Given the description of an element on the screen output the (x, y) to click on. 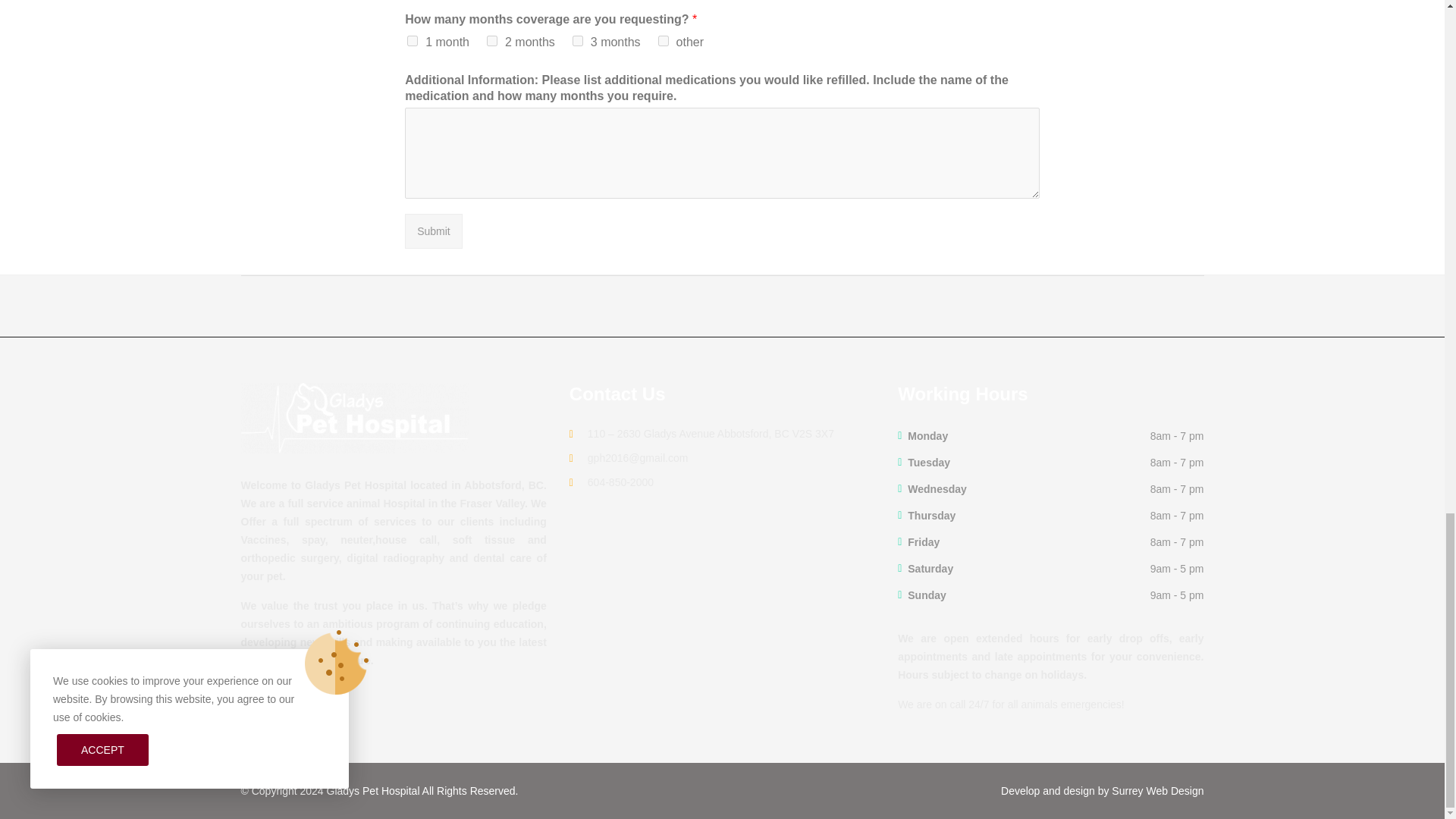
1 month (412, 40)
